Given the description of an element on the screen output the (x, y) to click on. 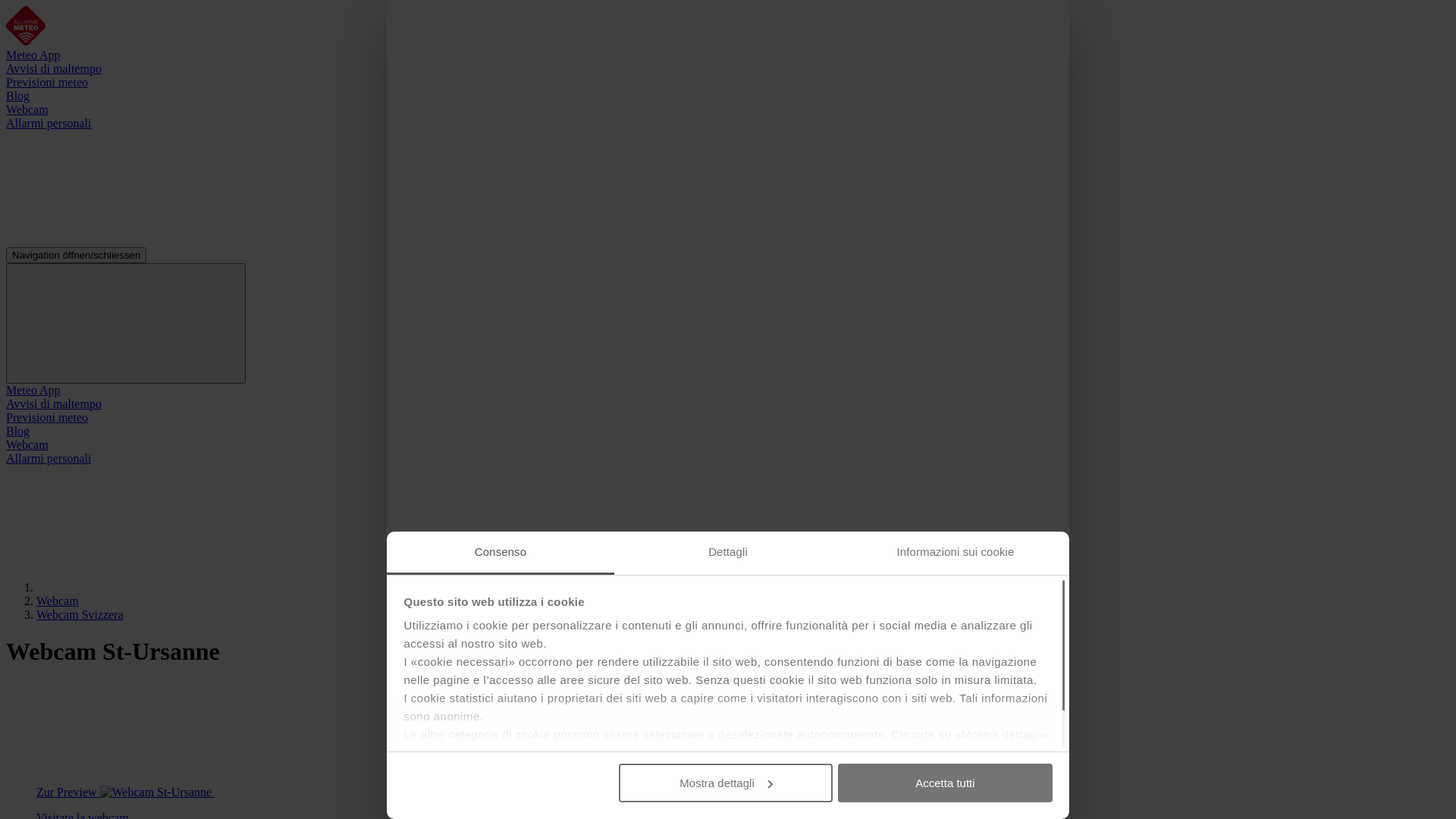
Webcam Element type: text (27, 109)
Previsioni meteo Element type: text (46, 417)
Allarmi personali Element type: text (48, 122)
Blog Element type: text (17, 430)
Previsioni meteo Element type: text (46, 81)
Allarmi personali Element type: text (48, 457)
Informazioni sui cookie Element type: text (955, 552)
Meteo App Element type: text (33, 54)
Webcam Element type: text (27, 444)
Avvisi di maltempo Element type: text (53, 403)
Accetta tutti Element type: text (944, 781)
Zur Preview Element type: text (239, 791)
Blog Element type: text (17, 95)
Dichiarazione sulla protezione dei dati Element type: text (811, 770)
Dettagli Element type: text (727, 552)
Consenso Element type: text (500, 552)
Webcam Element type: text (57, 600)
Meteo App Element type: text (33, 389)
Mostra dettagli Element type: text (725, 781)
Webcam Svizzera Element type: text (79, 614)
Avvisi di maltempo Element type: text (53, 68)
